Given the description of an element on the screen output the (x, y) to click on. 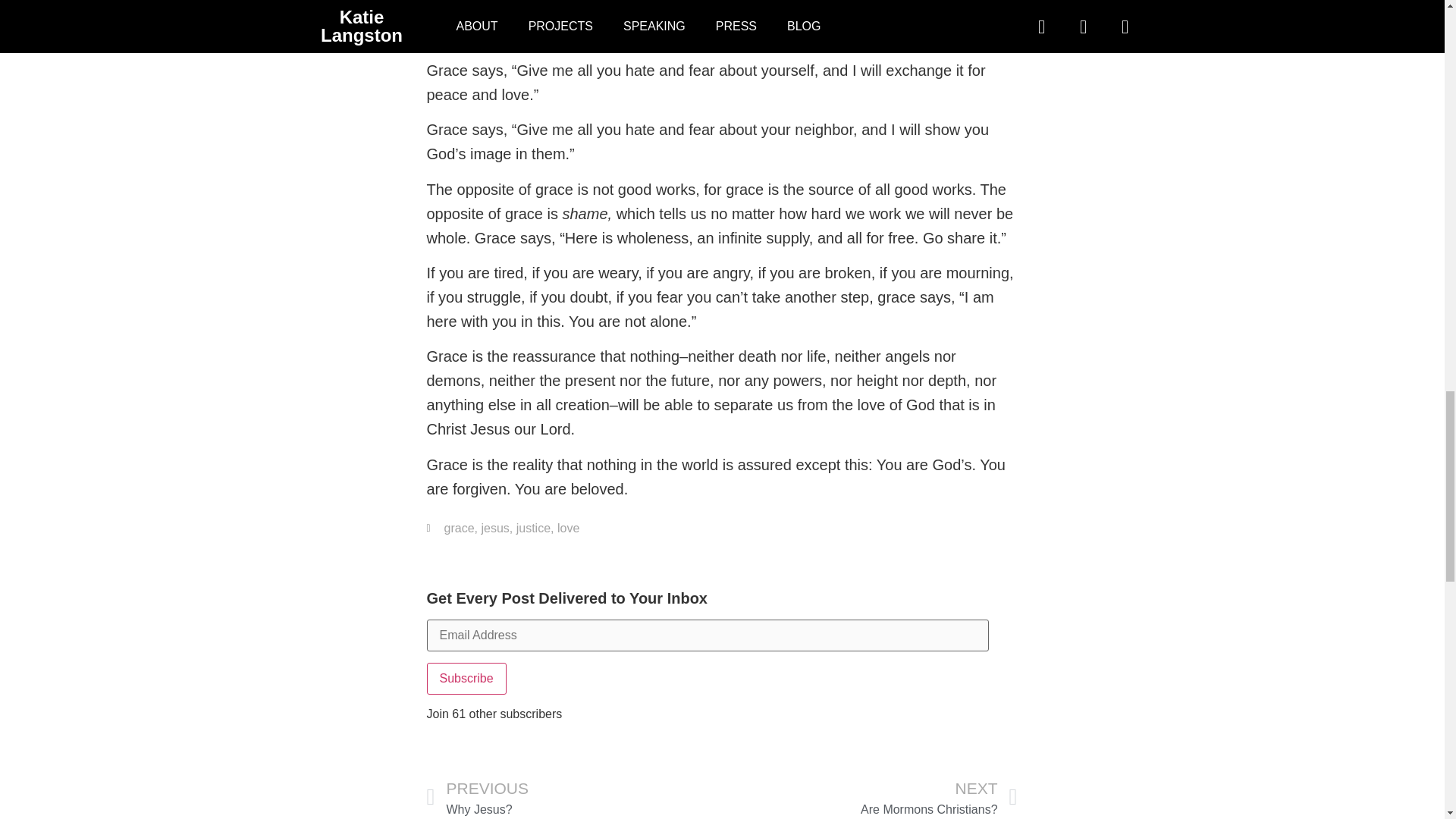
love (568, 527)
grace (459, 527)
justice (533, 527)
Subscribe (465, 678)
jesus (494, 527)
